Given the description of an element on the screen output the (x, y) to click on. 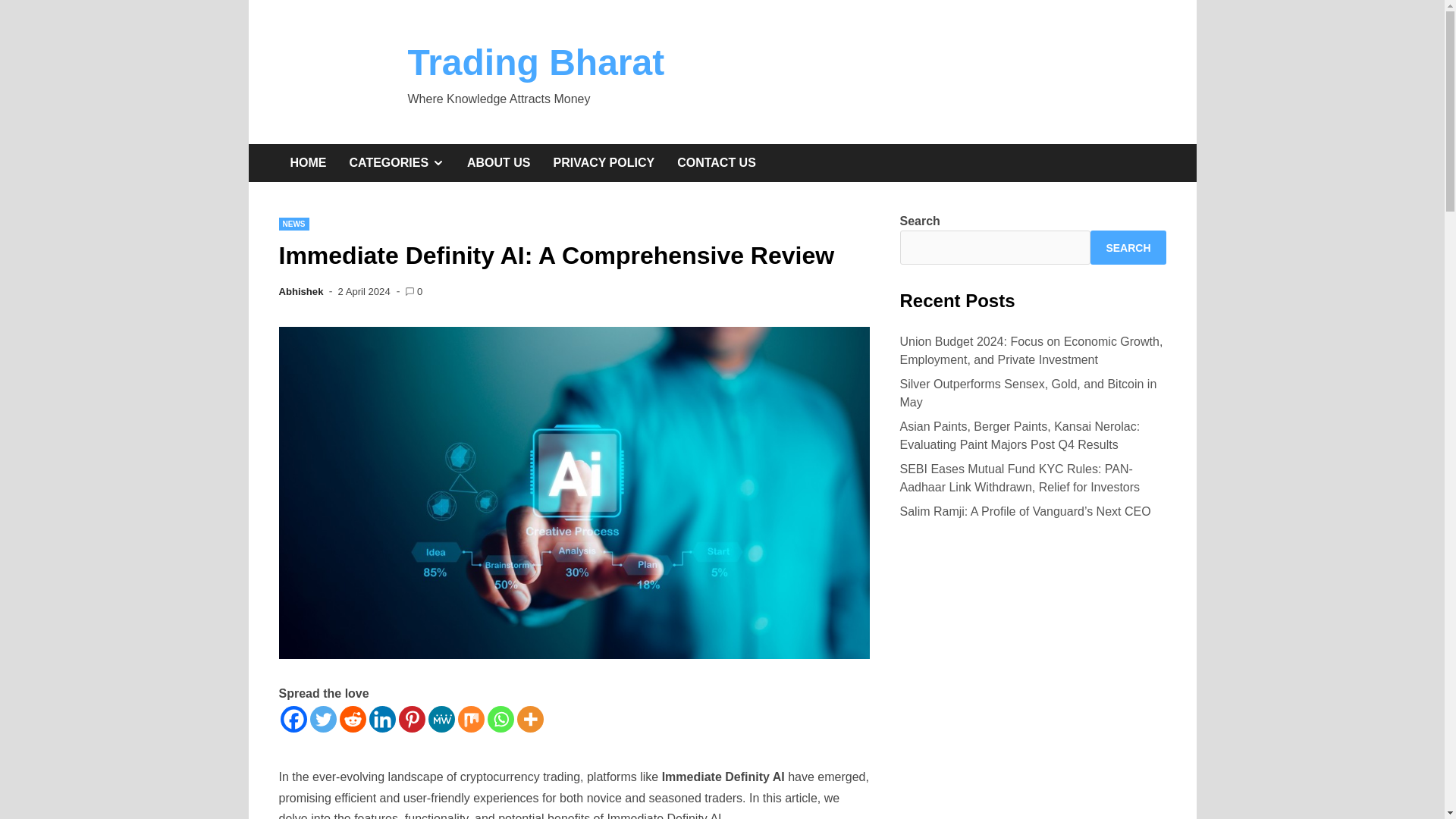
Reddit (352, 718)
Linkedin (381, 718)
NEWS (293, 223)
More (396, 162)
HOME (529, 718)
Pinterest (308, 162)
Twitter (411, 718)
Whatsapp (322, 718)
Trading Bharat (499, 718)
ABOUT US (536, 62)
CONTACT US (498, 162)
Facebook (716, 162)
PRIVACY POLICY (294, 718)
MeWe (603, 162)
